Given the description of an element on the screen output the (x, y) to click on. 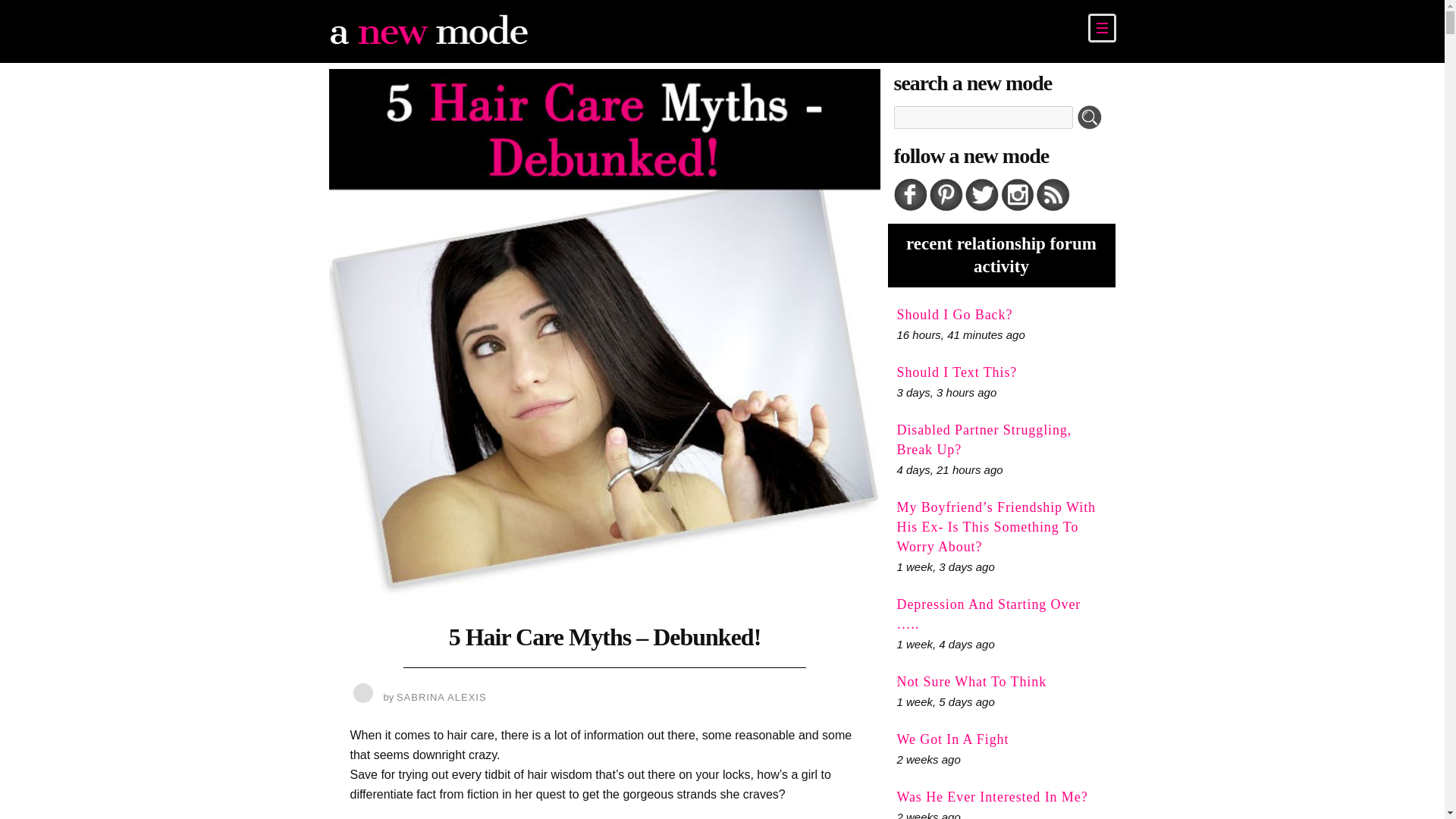
Search (1091, 117)
Search (1091, 117)
